Given the description of an element on the screen output the (x, y) to click on. 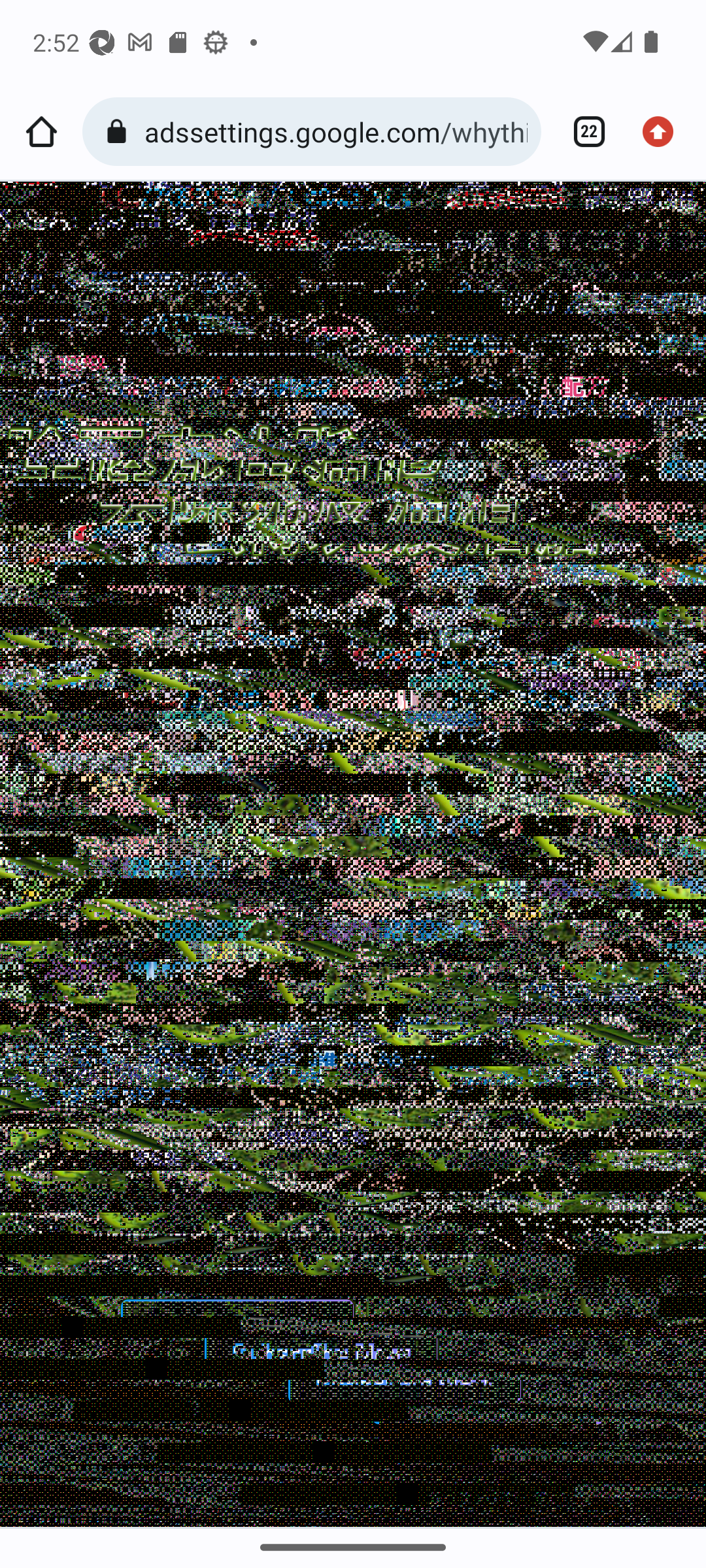
Home (41, 131)
Connection is secure (120, 131)
Switch or close tabs (582, 131)
Update available. More options (664, 131)
adssettings.google.com/whythisad (335, 131)
